Given the description of an element on the screen output the (x, y) to click on. 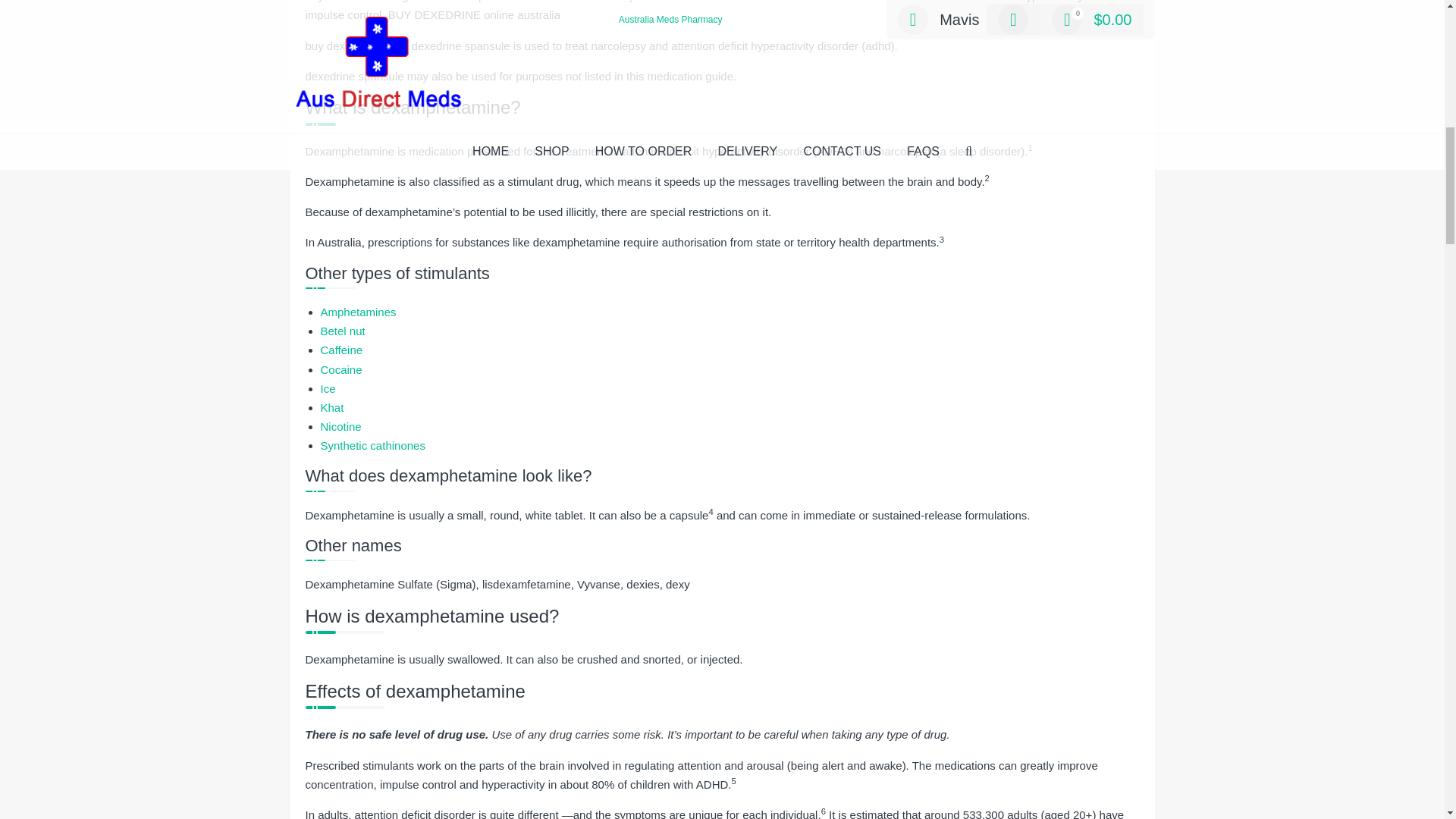
dexedrine (351, 1)
Ice (327, 388)
Amphetamines (358, 311)
Betel nut (342, 330)
Cocaine (340, 369)
Nicotine (340, 426)
Khat (331, 407)
Synthetic cathinones (372, 445)
Caffeine (341, 349)
